Given the description of an element on the screen output the (x, y) to click on. 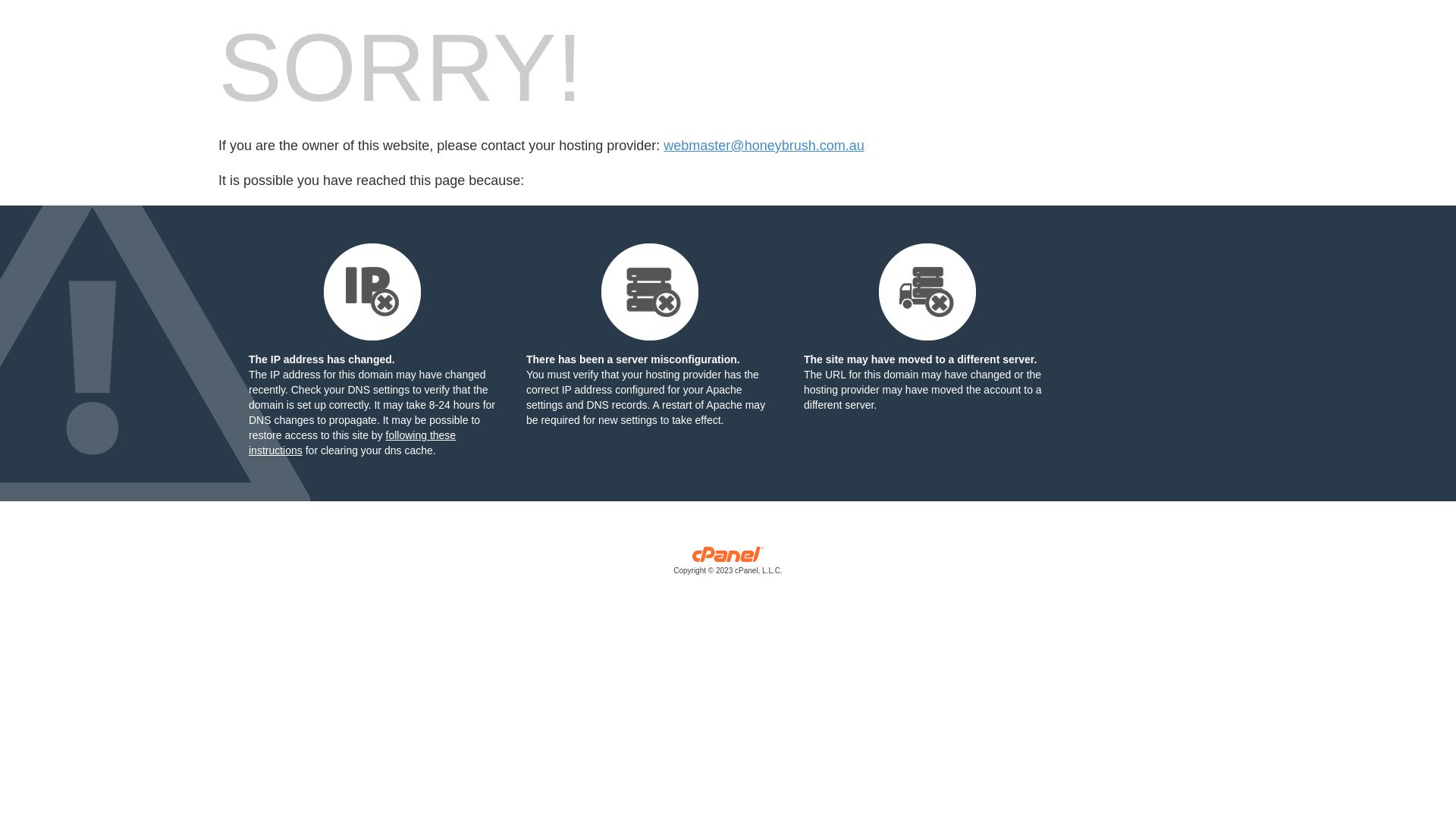
following these instructions Element type: text (351, 442)
webmaster@honeybrush.com.au Element type: text (763, 145)
